Given the description of an element on the screen output the (x, y) to click on. 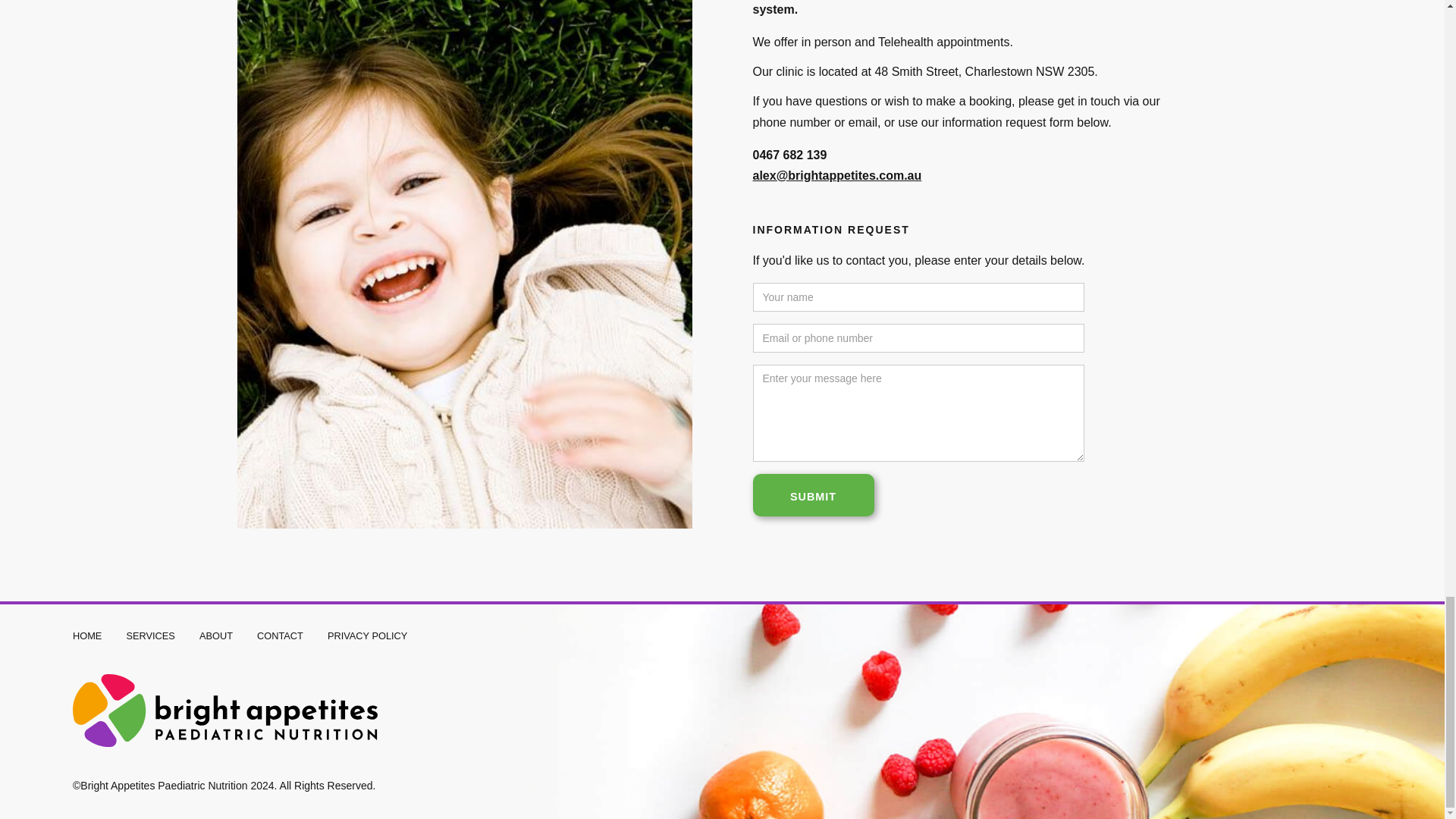
HOME (86, 635)
PRIVACY POLICY (367, 635)
ABOUT (215, 635)
Submit (812, 495)
Submit (812, 495)
SERVICES (149, 635)
CONTACT (279, 635)
